Given the description of an element on the screen output the (x, y) to click on. 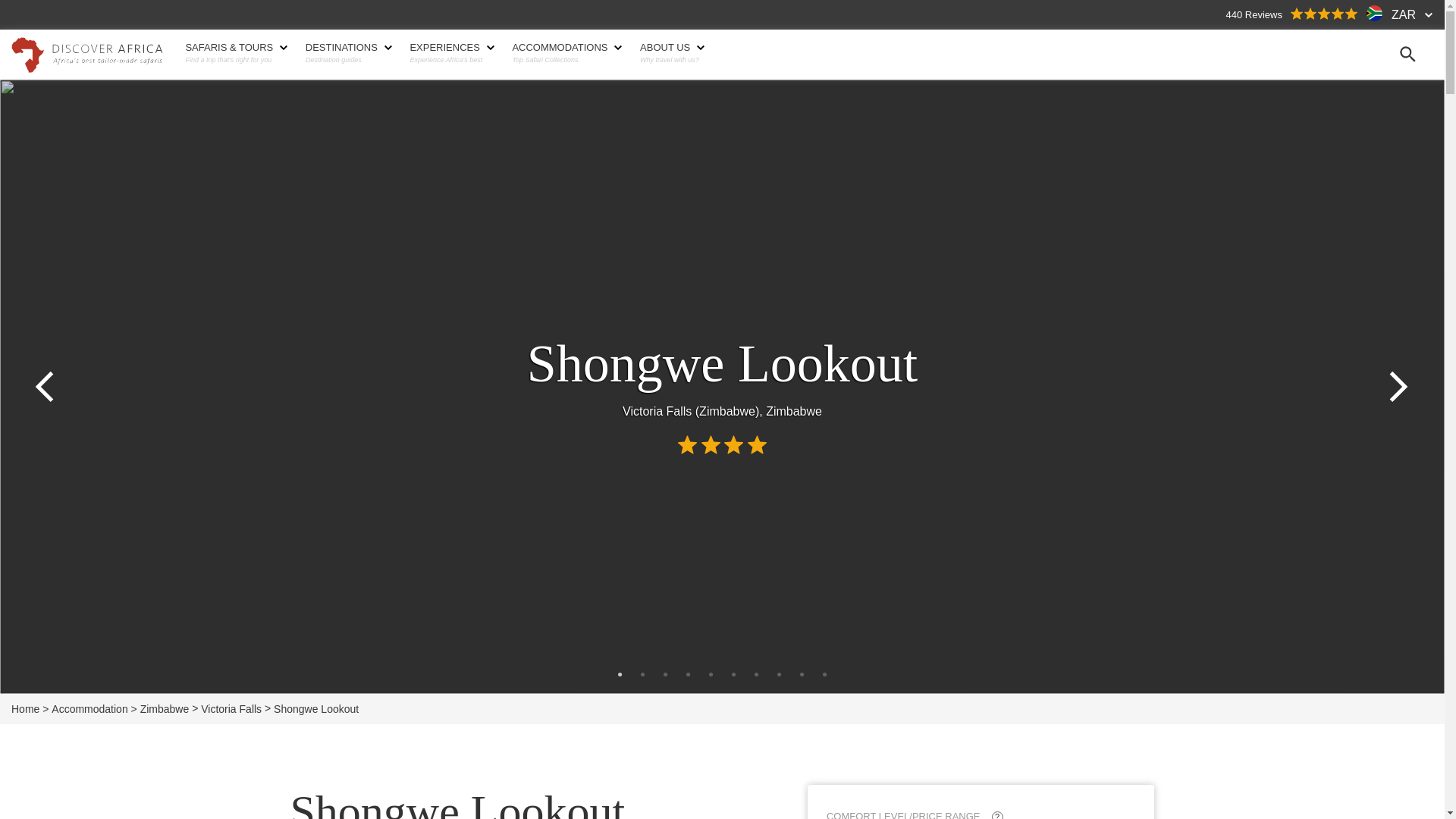
Find a trip that's right for you (233, 59)
Destination guides (346, 59)
440 Reviews (1291, 14)
DESTINATIONS (346, 47)
